Given the description of an element on the screen output the (x, y) to click on. 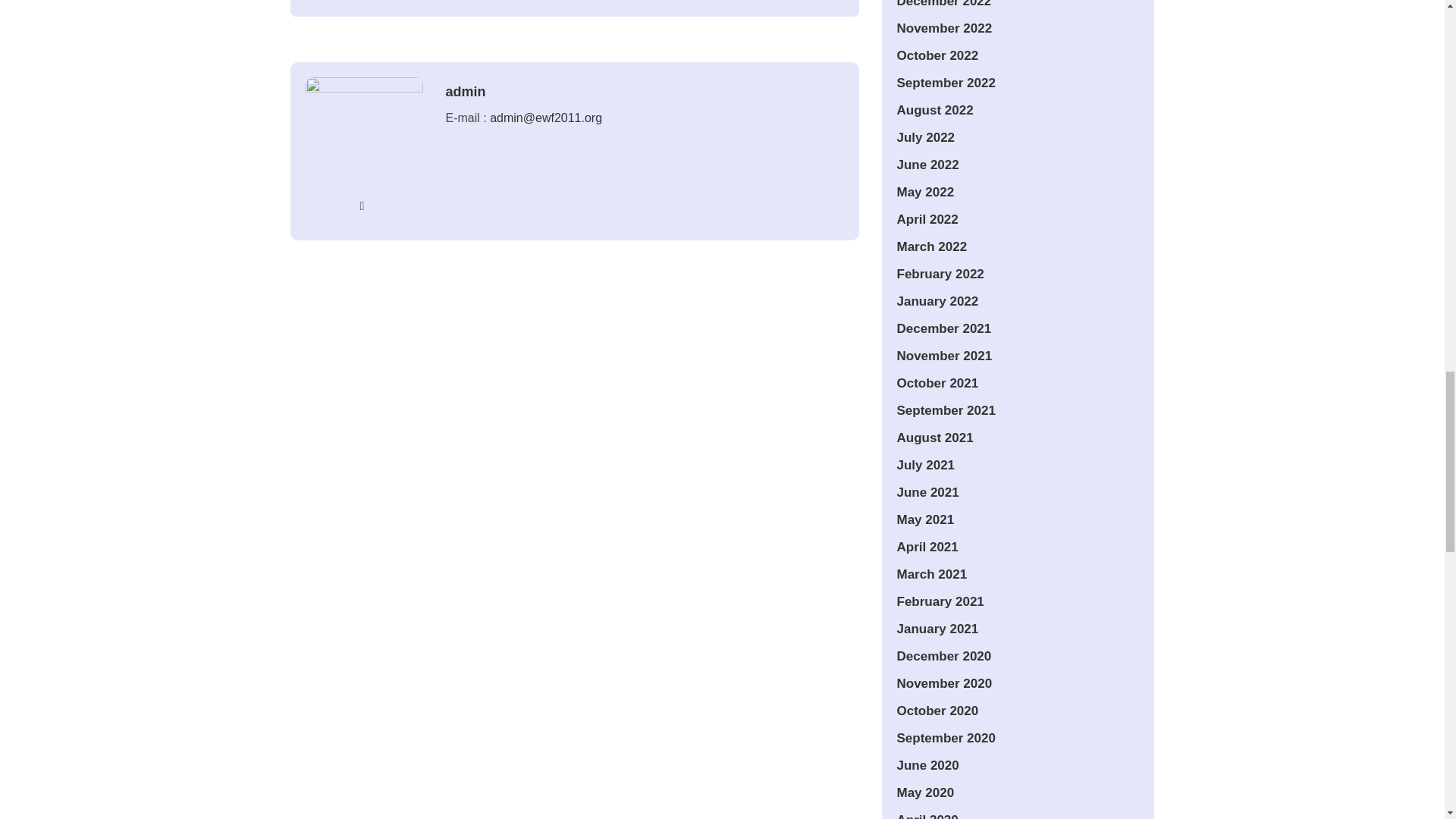
November 2022 (943, 28)
December 2022 (943, 4)
